Given the description of an element on the screen output the (x, y) to click on. 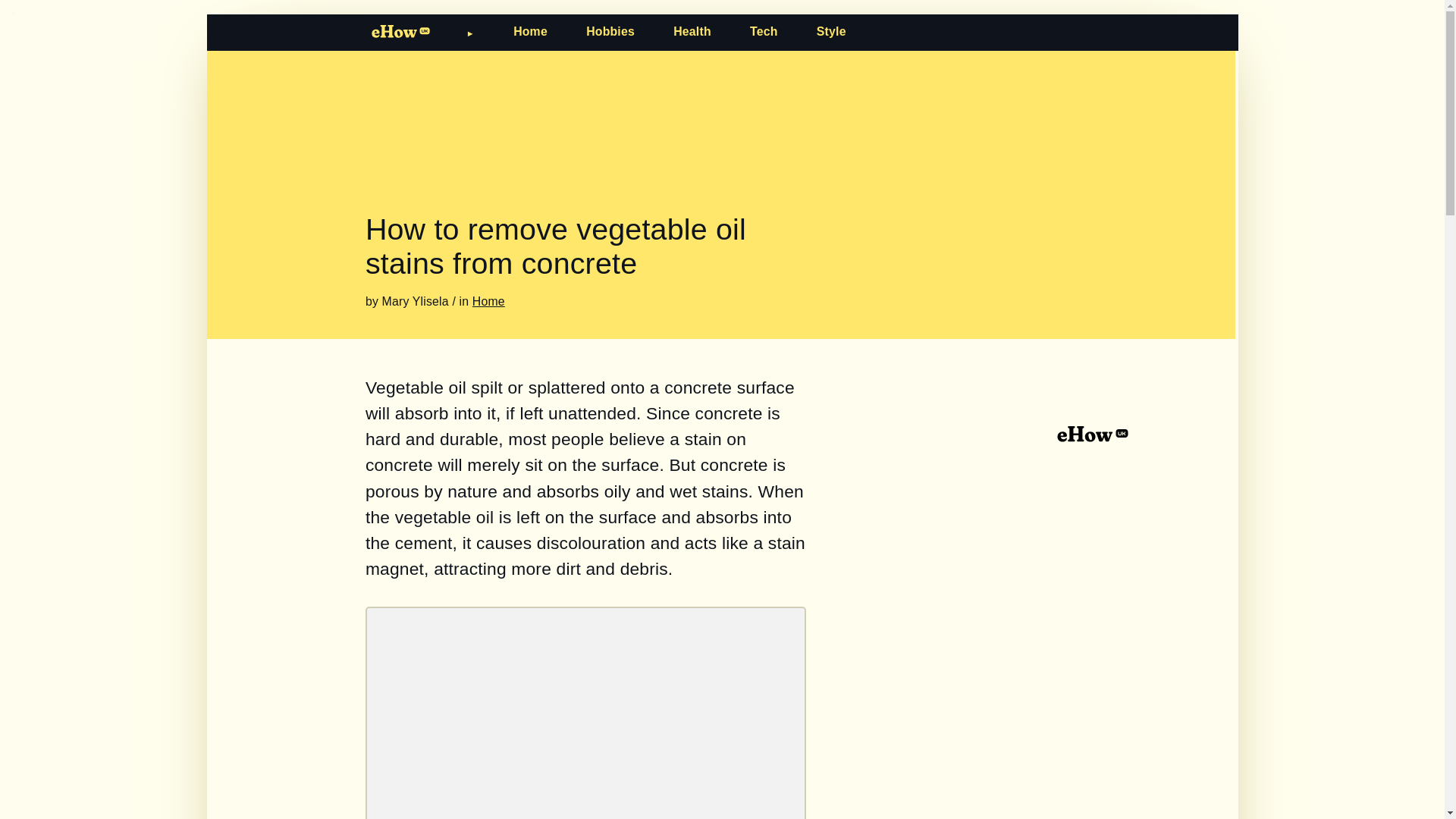
Home (530, 31)
Style (830, 31)
Tech (763, 31)
Home (488, 300)
Health (691, 31)
Hobbies (610, 31)
